Given the description of an element on the screen output the (x, y) to click on. 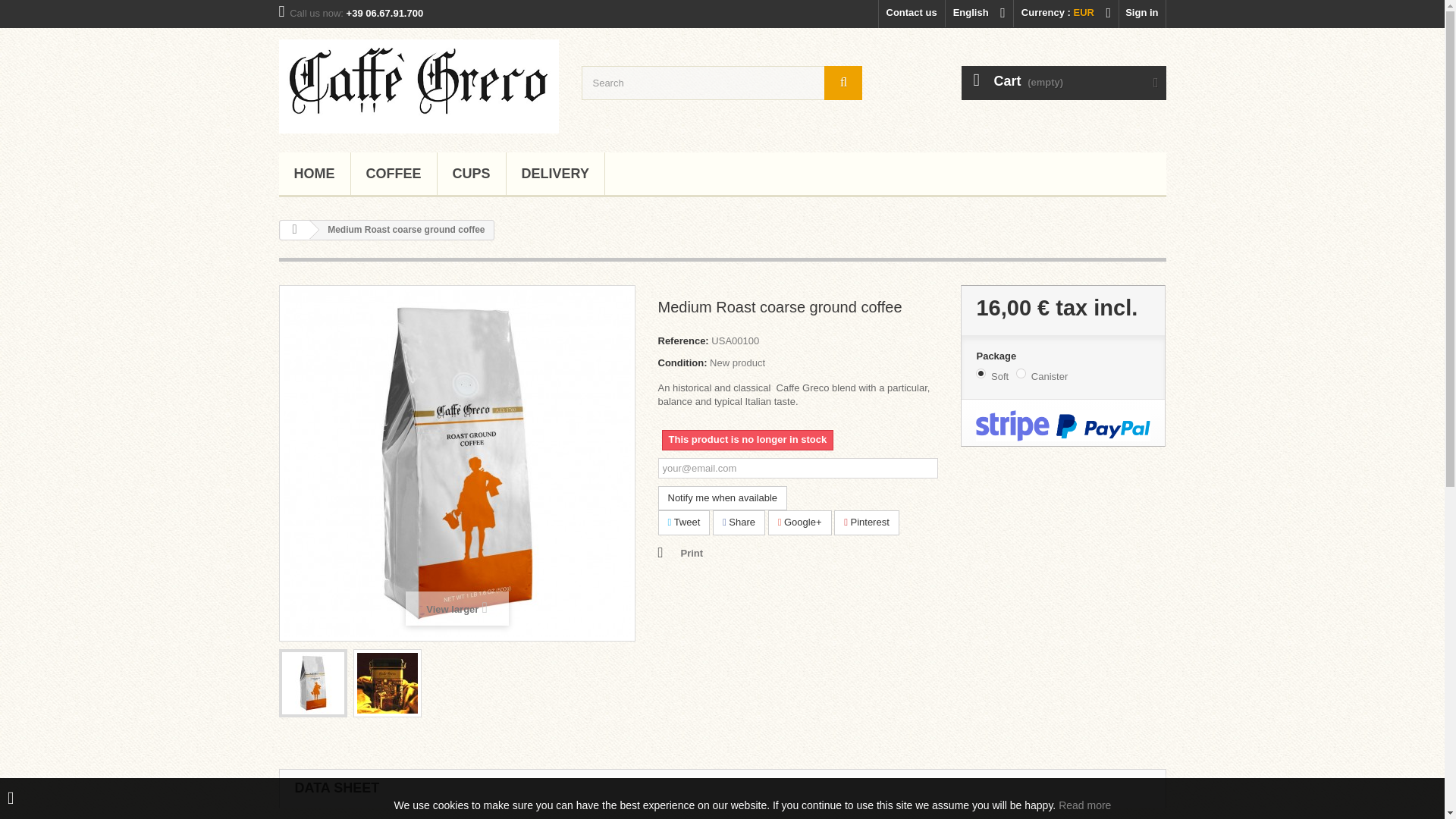
Contact us (911, 13)
HOME (314, 174)
Notify me when available (722, 498)
Sign in (1141, 13)
Home (314, 174)
Contact us (911, 13)
Share (739, 522)
DELIVERY (555, 174)
Print (680, 553)
View my shopping cart (1063, 82)
COFFEE (392, 174)
Coffee (392, 174)
Tweet (684, 522)
CUPS (471, 174)
Pinterest (866, 522)
